Given the description of an element on the screen output the (x, y) to click on. 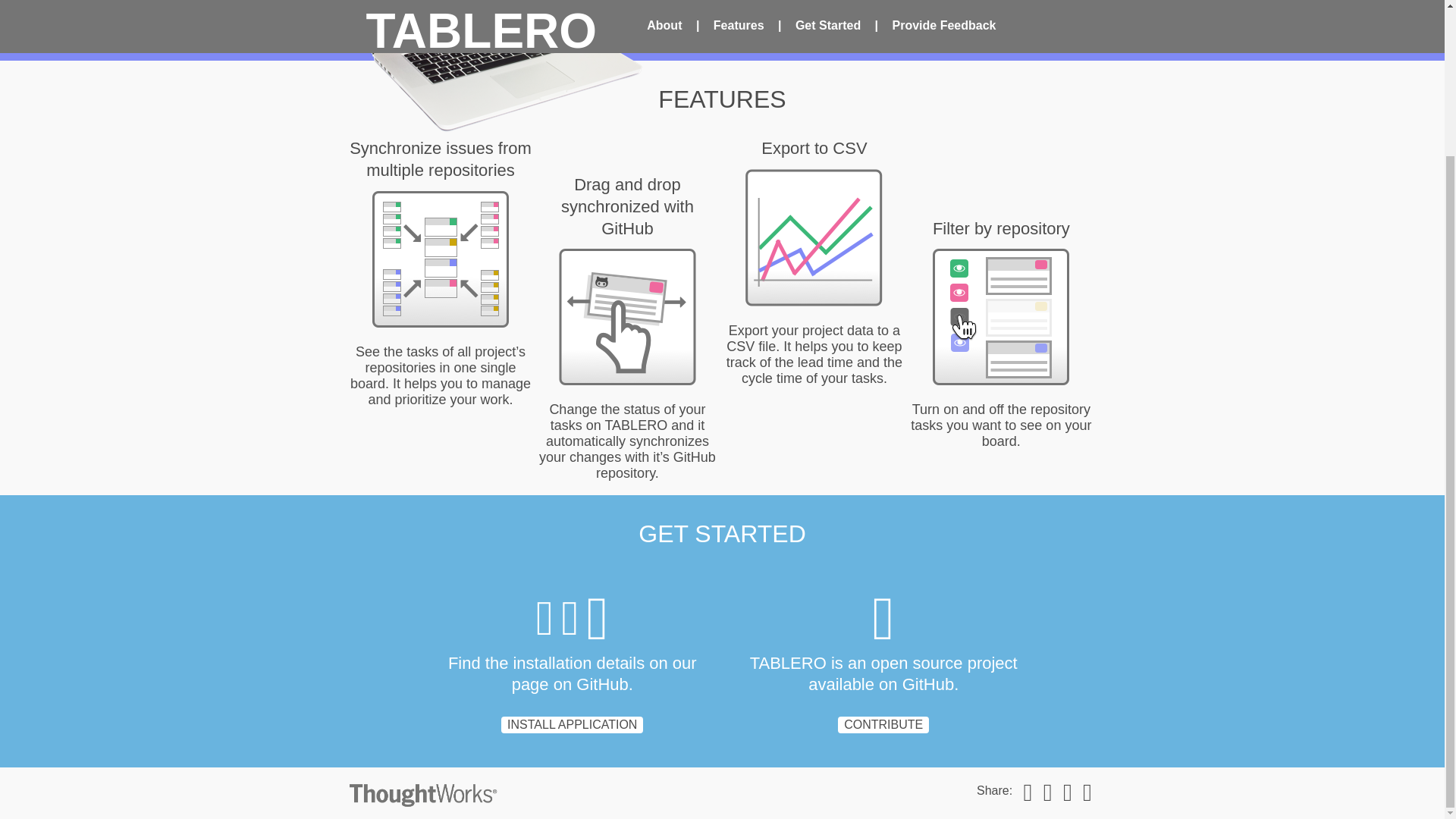
INSTALL APPLICATION (571, 724)
CONTRIBUTE (883, 724)
INSTALL APPLICATION (571, 724)
CONTRIBUTE (883, 724)
